Given the description of an element on the screen output the (x, y) to click on. 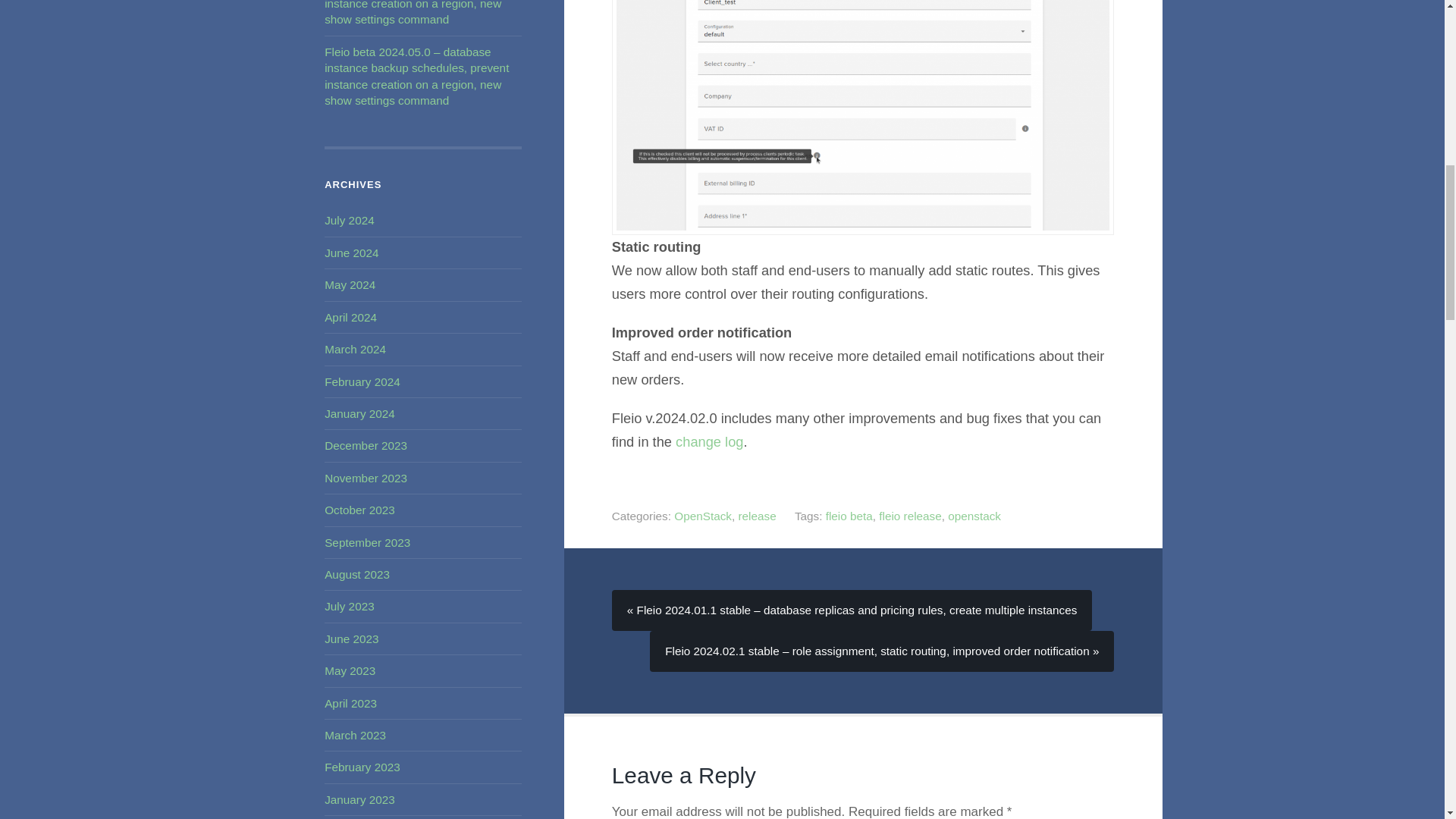
May 2023 (349, 670)
November 2023 (365, 477)
January 2024 (359, 413)
February 2023 (362, 766)
March 2023 (354, 735)
September 2023 (367, 542)
March 2024 (354, 349)
July 2023 (349, 605)
April 2023 (350, 703)
July 2024 (349, 219)
February 2024 (362, 380)
December 2023 (365, 445)
May 2024 (349, 284)
June 2023 (351, 638)
April 2024 (350, 317)
